Given the description of an element on the screen output the (x, y) to click on. 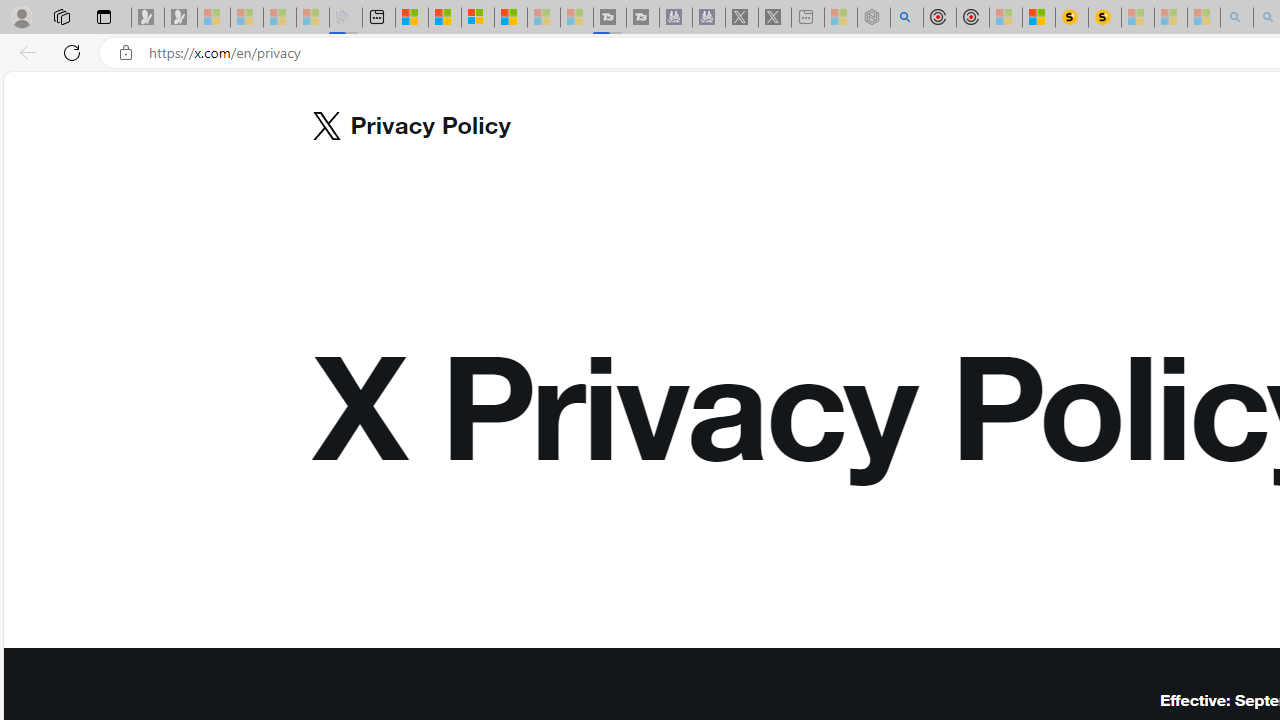
amazon - Search - Sleeping (1237, 17)
Microsoft Start - Sleeping (543, 17)
Overview (478, 17)
Michelle Starr, Senior Journalist at ScienceAlert (1105, 17)
